Given the description of an element on the screen output the (x, y) to click on. 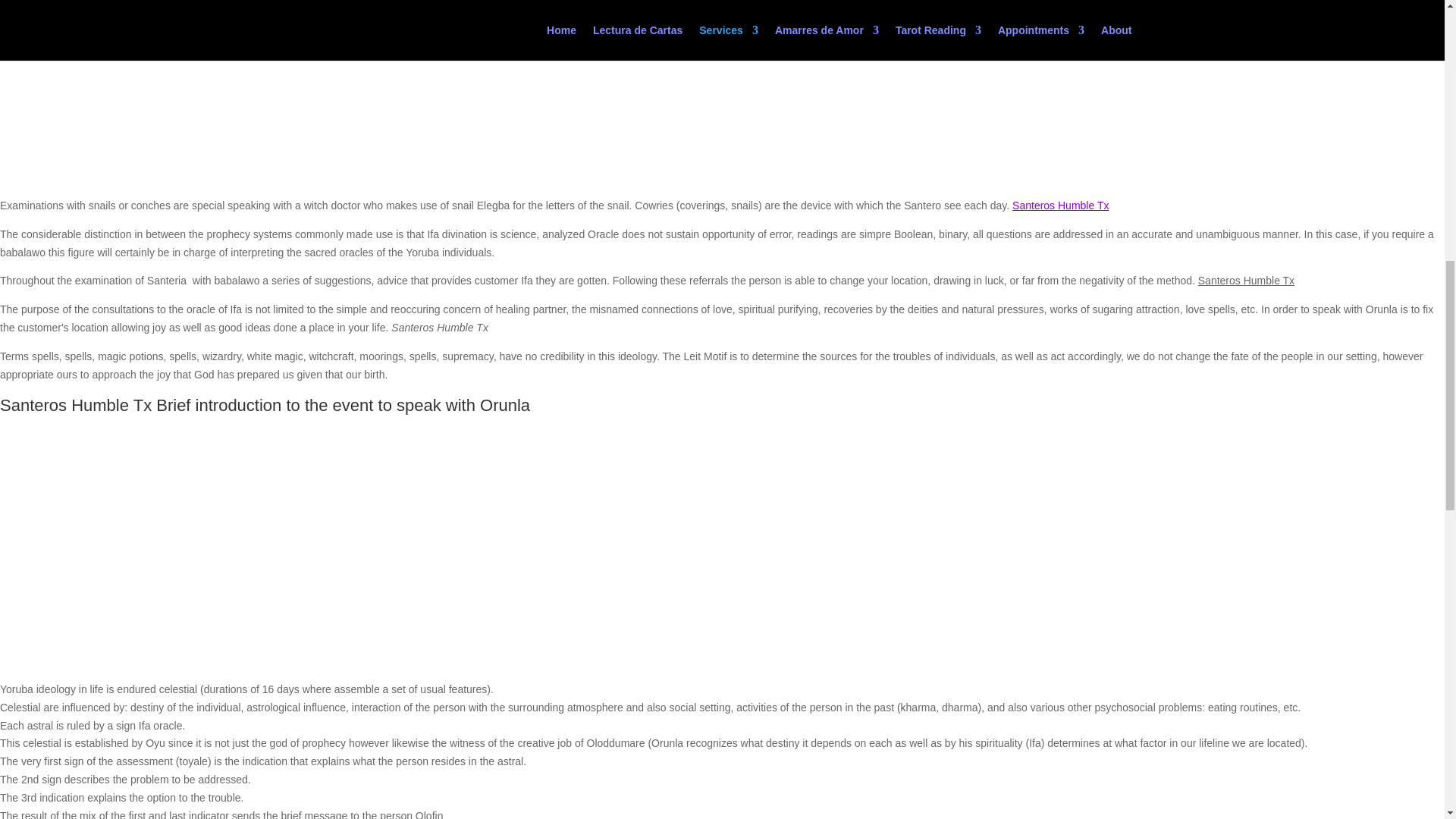
Santeros Humble Tx (1059, 205)
